Given the description of an element on the screen output the (x, y) to click on. 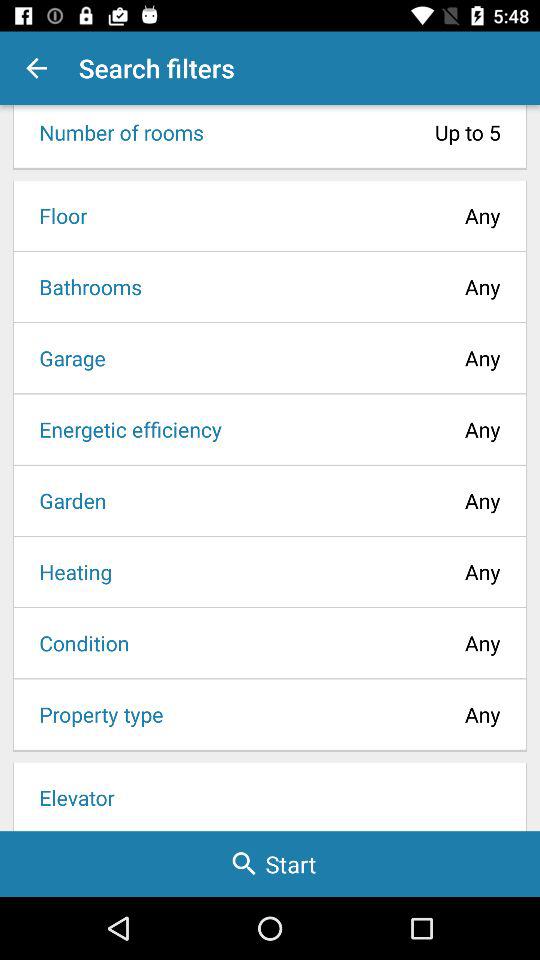
turn off item to the left of any item (69, 571)
